Given the description of an element on the screen output the (x, y) to click on. 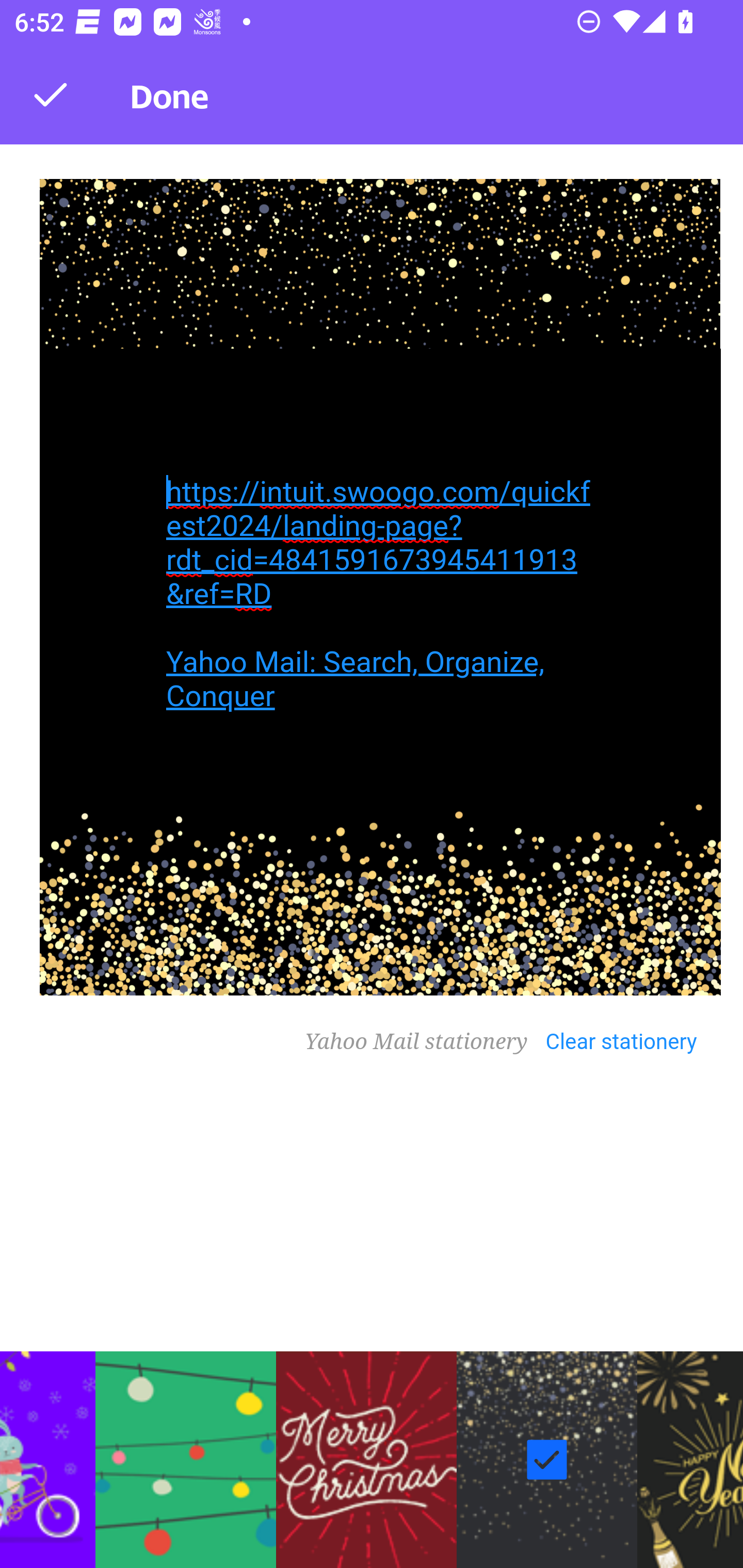
Done selecting stationery theme (50, 93)
Yahoo Mail stationery (424, 1042)
Clear stationery (630, 1038)
Popup Ornaments (185, 1459)
Merry Christmas (366, 1459)
Gatsby Confetti (546, 1459)
